Given the description of an element on the screen output the (x, y) to click on. 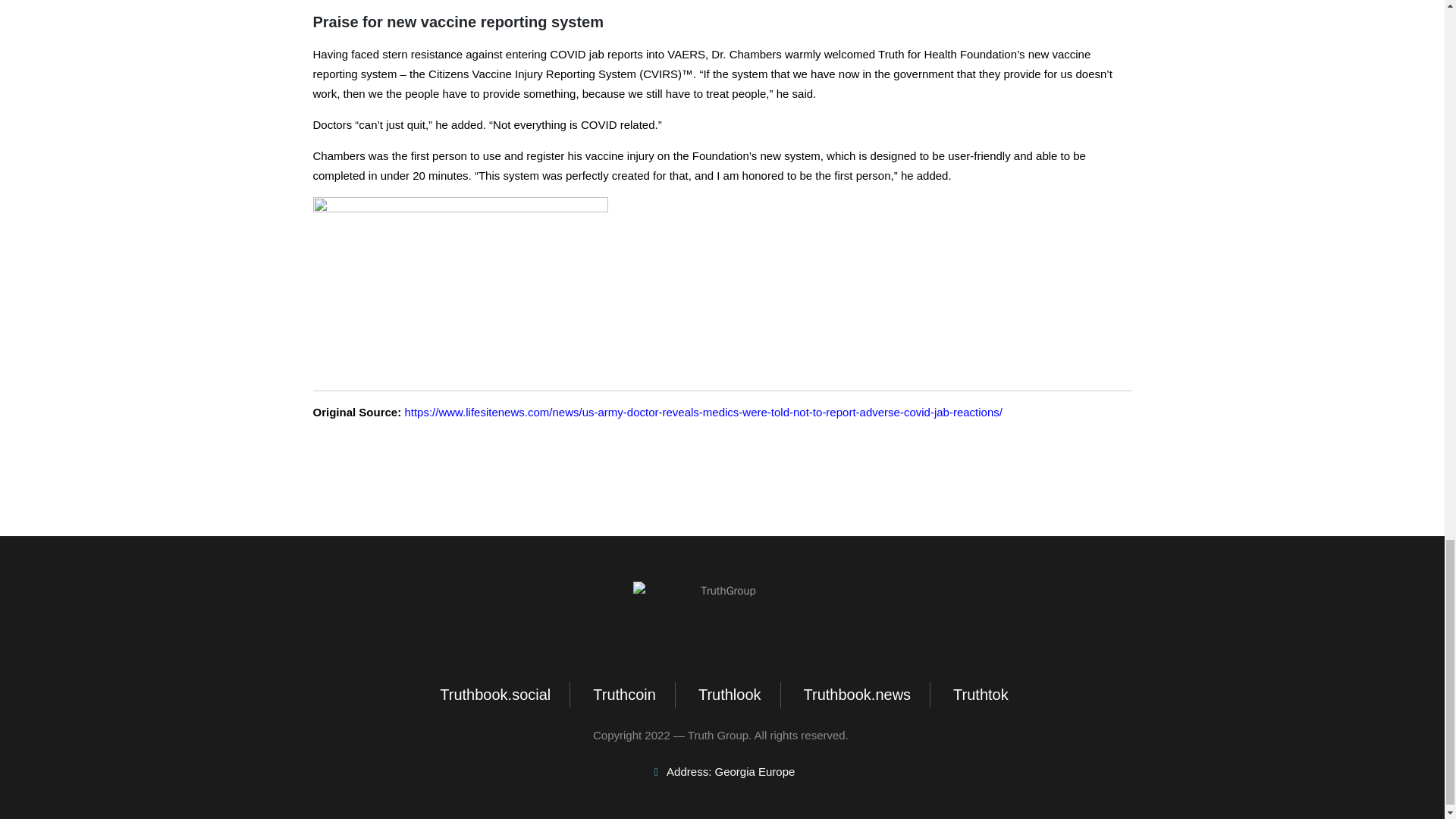
Truthtok (979, 694)
Truthcoin (622, 694)
Truthlook (727, 694)
Truthbook.social (492, 694)
Truthbook.news (855, 694)
